Given the description of an element on the screen output the (x, y) to click on. 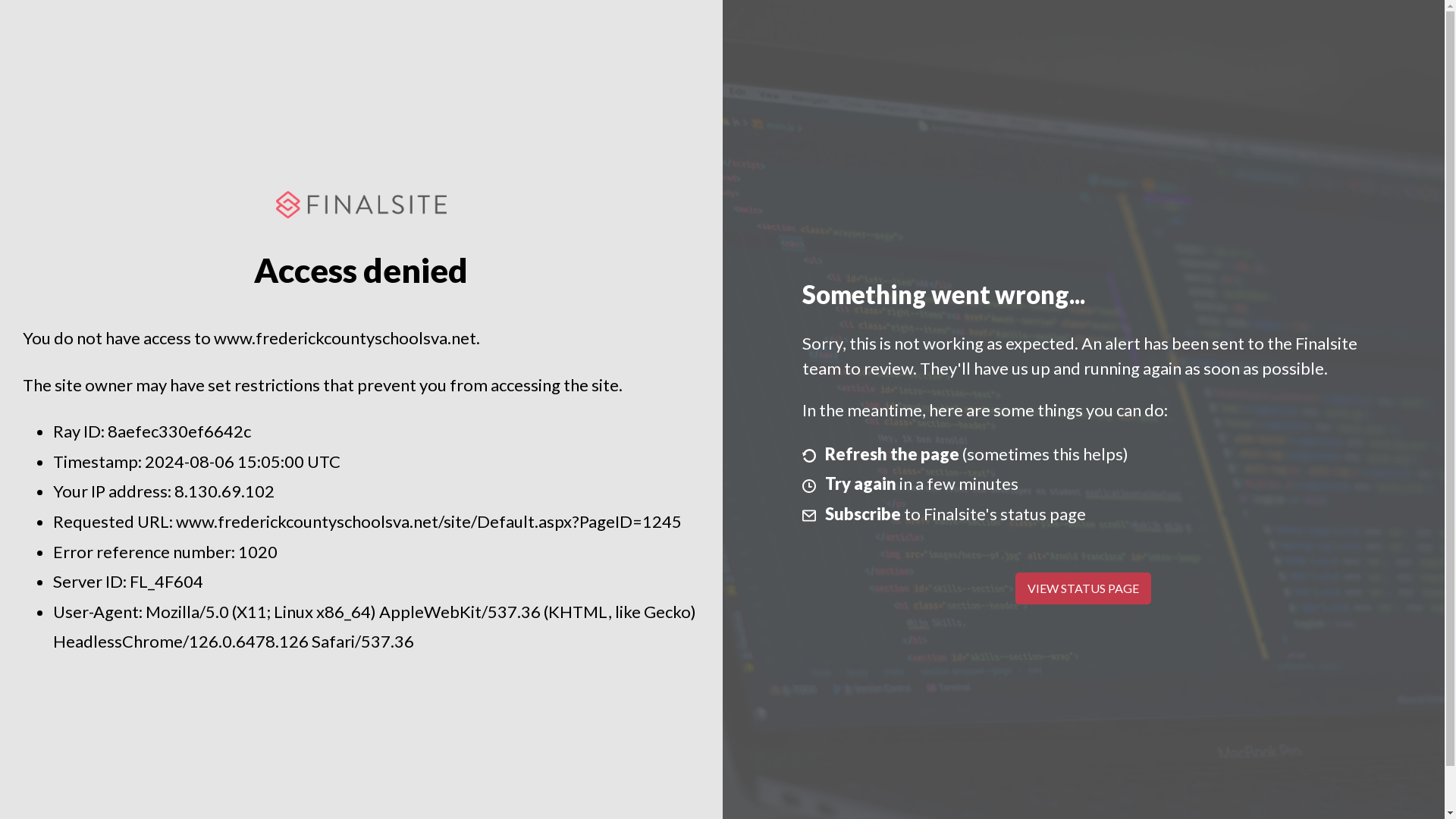
VIEW STATUS PAGE (1082, 588)
